Given the description of an element on the screen output the (x, y) to click on. 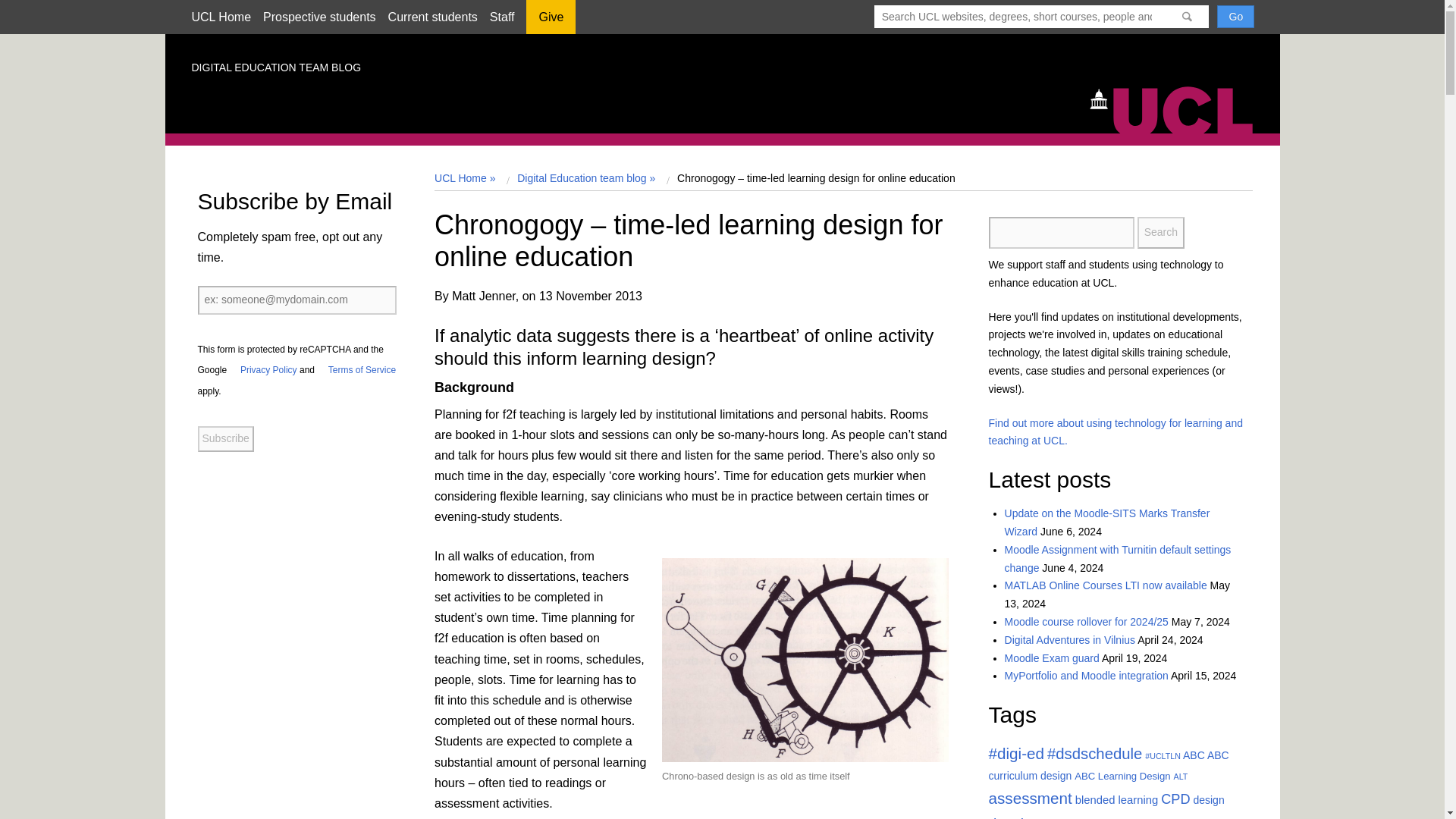
Home (1178, 108)
Subscribe (224, 438)
Go (1235, 15)
Subscribe (224, 438)
UCL Home (220, 16)
Search (1161, 232)
Go (1235, 15)
Go (1235, 15)
Staff (502, 16)
Give (550, 22)
Prospective students (319, 16)
Current students (432, 16)
Terms of Service (356, 369)
Privacy Policy (263, 369)
